Given the description of an element on the screen output the (x, y) to click on. 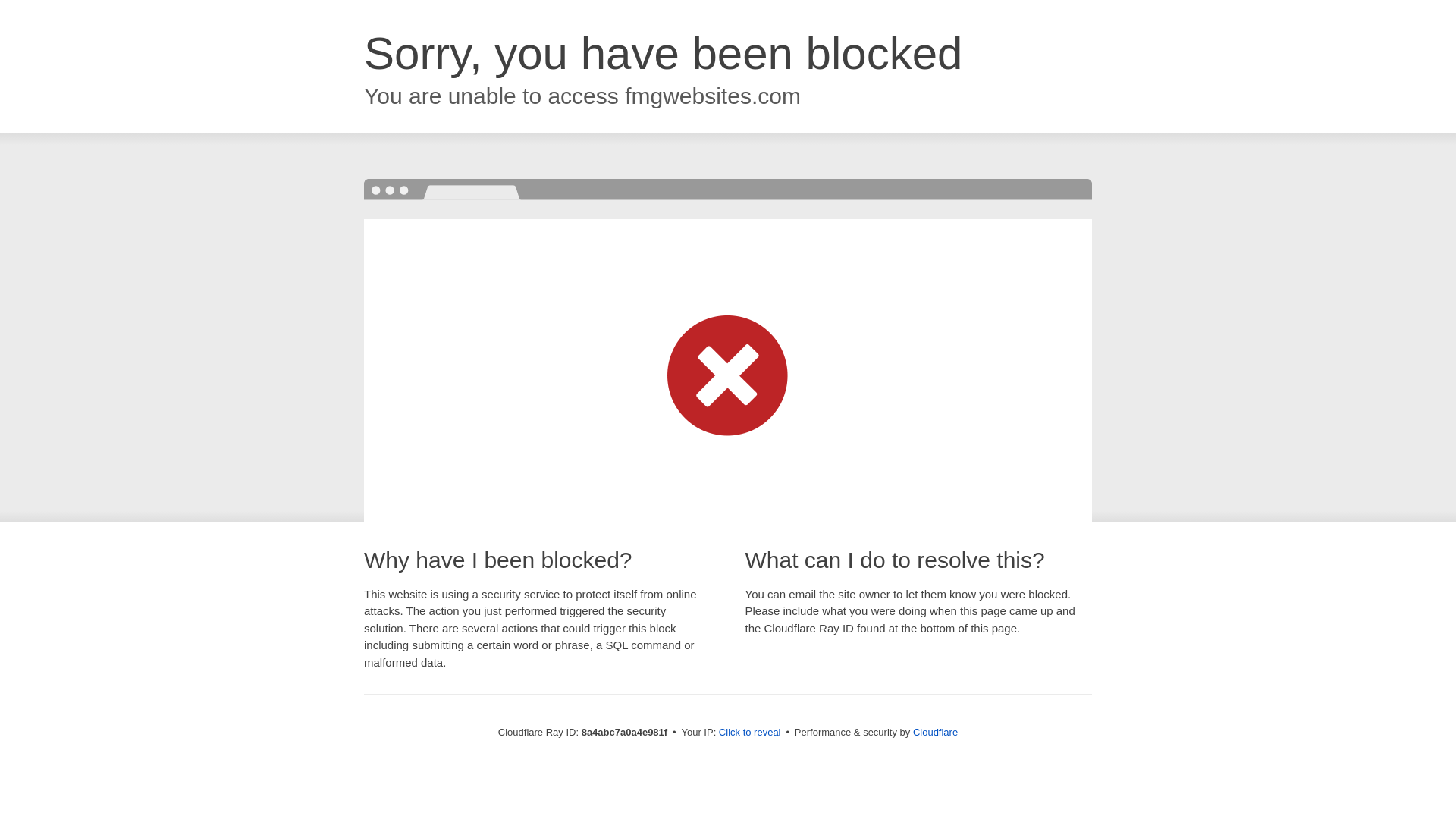
Click to reveal (749, 732)
Cloudflare (935, 731)
